Given the description of an element on the screen output the (x, y) to click on. 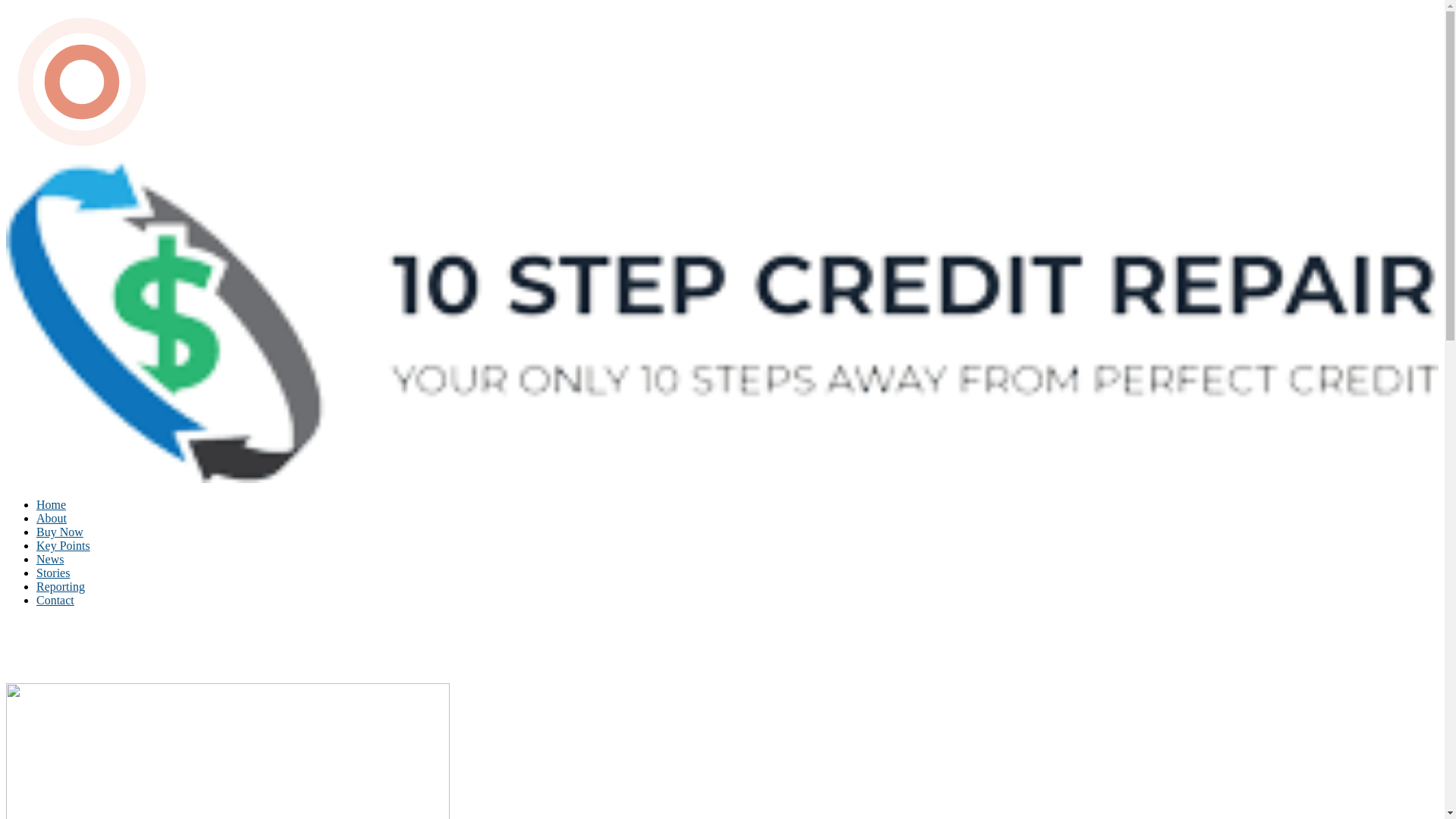
Buy Now Element type: text (59, 531)
About Element type: text (51, 517)
Stories Element type: text (52, 572)
Key Points Element type: text (63, 545)
News Element type: text (49, 558)
Reporting Element type: text (60, 586)
Contact Element type: text (55, 599)
Home Element type: text (50, 504)
